Given the description of an element on the screen output the (x, y) to click on. 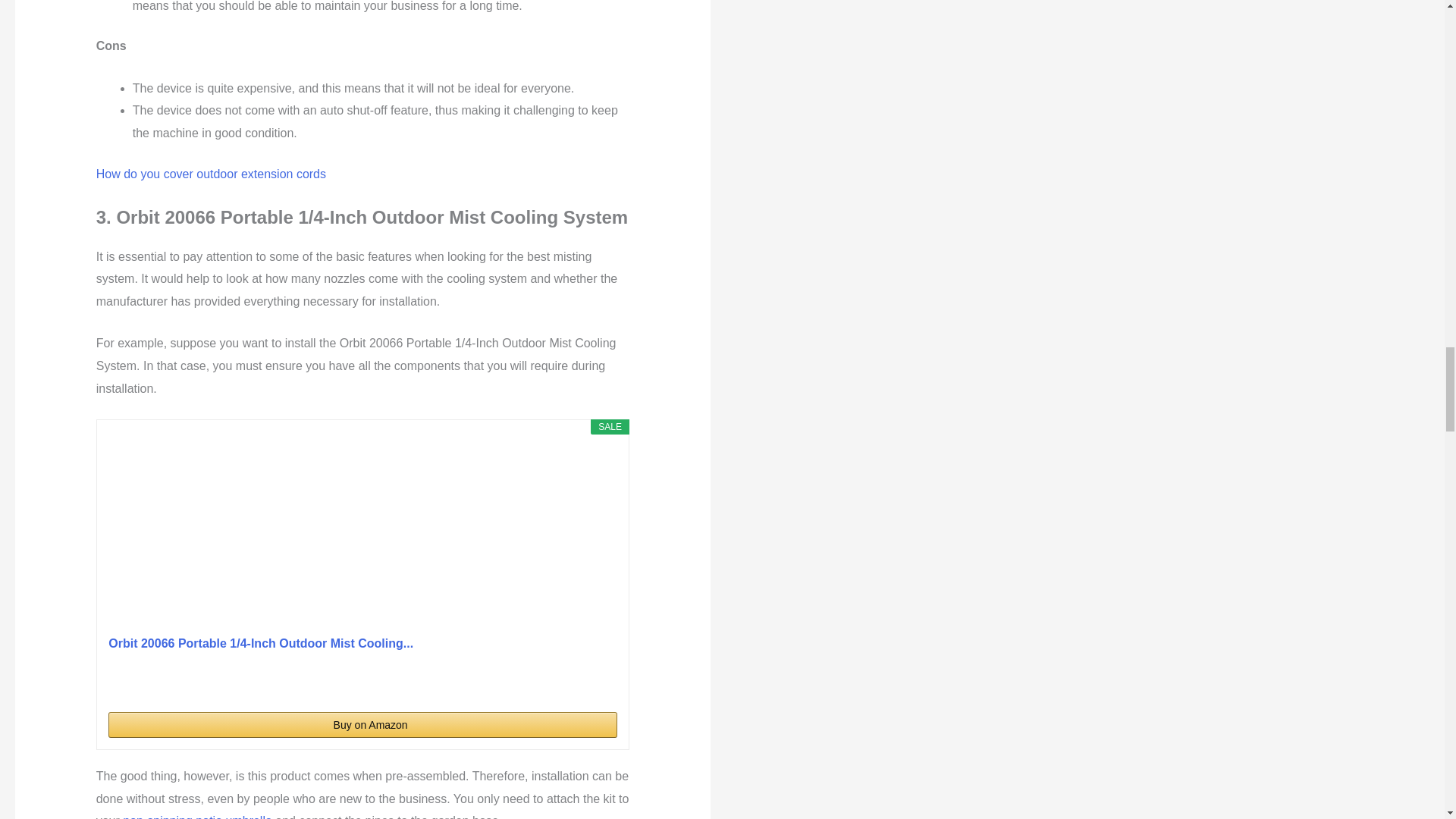
Buy on Amazon (362, 724)
Amazon Prime (596, 684)
